Given the description of an element on the screen output the (x, y) to click on. 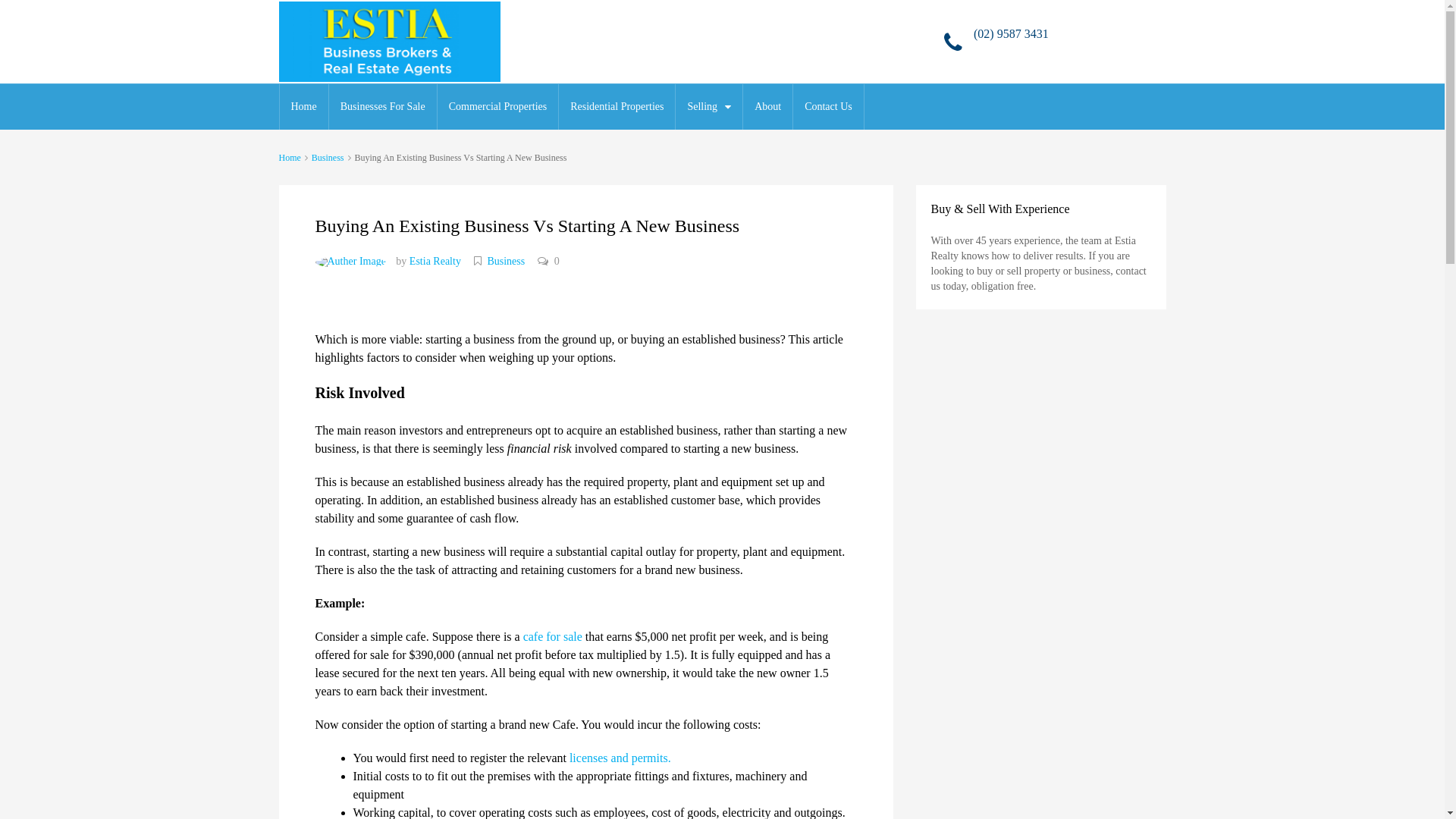
licenses and permits. Element type: text (620, 757)
Businesses For Sale Element type: text (382, 106)
Home Element type: text (303, 106)
Contact Us Element type: text (828, 106)
Business Element type: text (505, 260)
cafe for sale Element type: text (552, 636)
Selling Element type: text (708, 106)
Residential Properties Element type: text (616, 106)
Commercial Properties Element type: text (497, 106)
Business Element type: text (327, 157)
Estia Realty Element type: text (435, 260)
Home Element type: text (290, 157)
About Element type: text (767, 106)
